Given the description of an element on the screen output the (x, y) to click on. 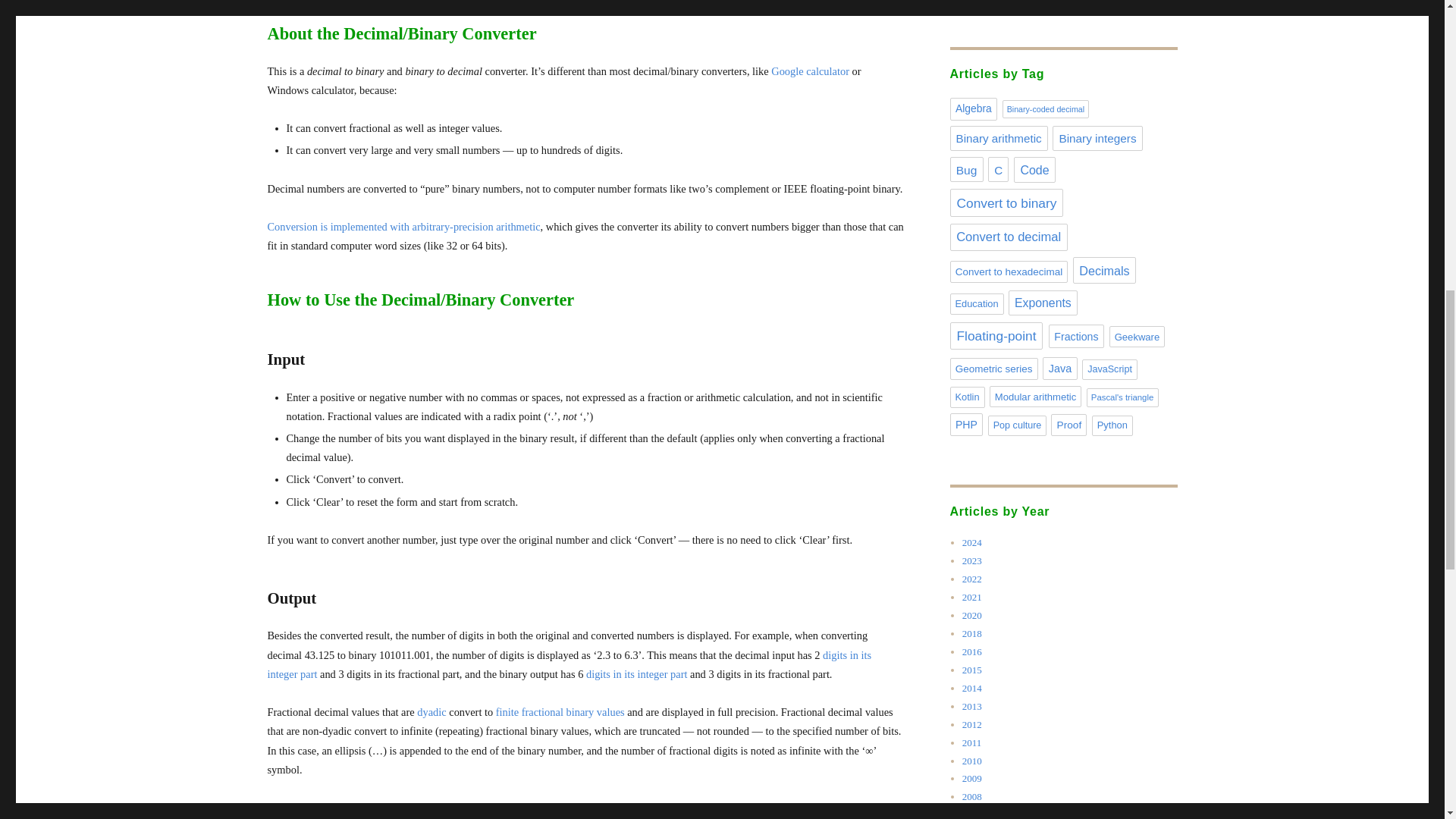
Wikipedia article on dyadic fraction (430, 711)
Google calculator (809, 70)
finite fractional binary values (560, 711)
dyadic (430, 711)
Algebra (973, 108)
digits in its integer part (568, 664)
digits in its integer part (636, 674)
Binary arithmetic (997, 137)
Bug (965, 169)
